Given the description of an element on the screen output the (x, y) to click on. 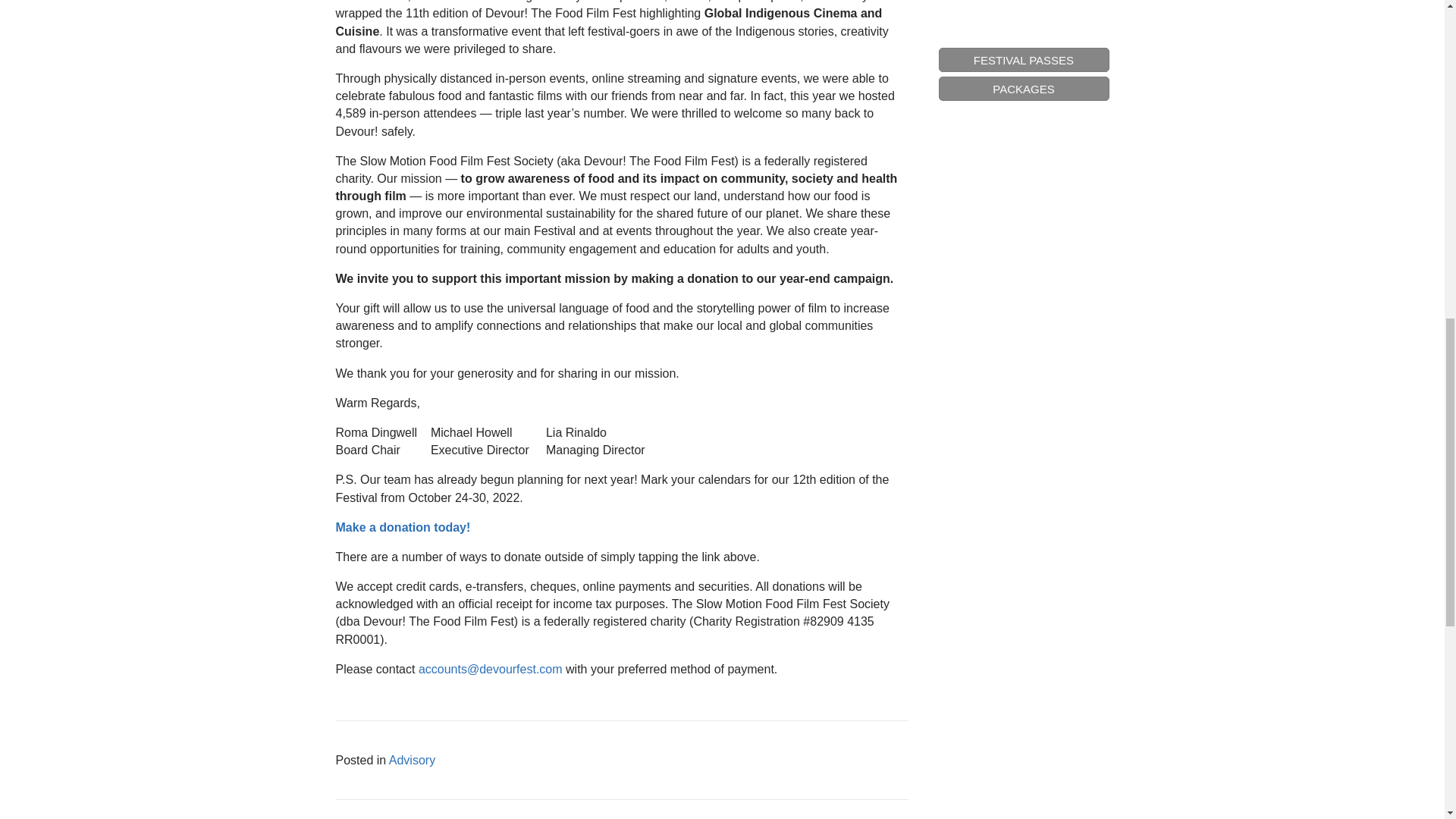
FESTIVAL PASSES (1024, 6)
PACKAGES (1024, 30)
Make a donation today! (402, 526)
Advisory (411, 759)
